Given the description of an element on the screen output the (x, y) to click on. 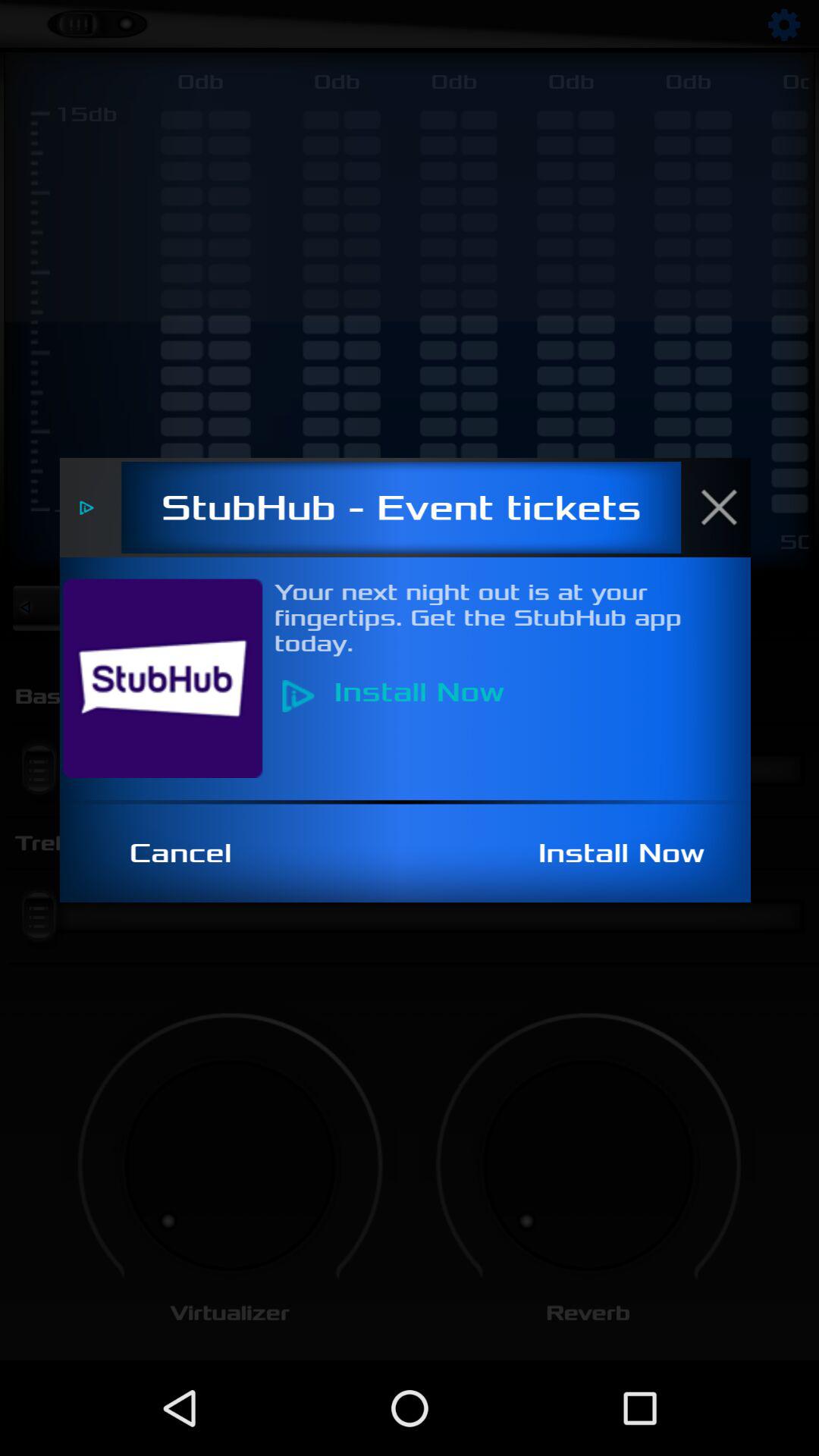
stubhub main page (170, 678)
